Given the description of an element on the screen output the (x, y) to click on. 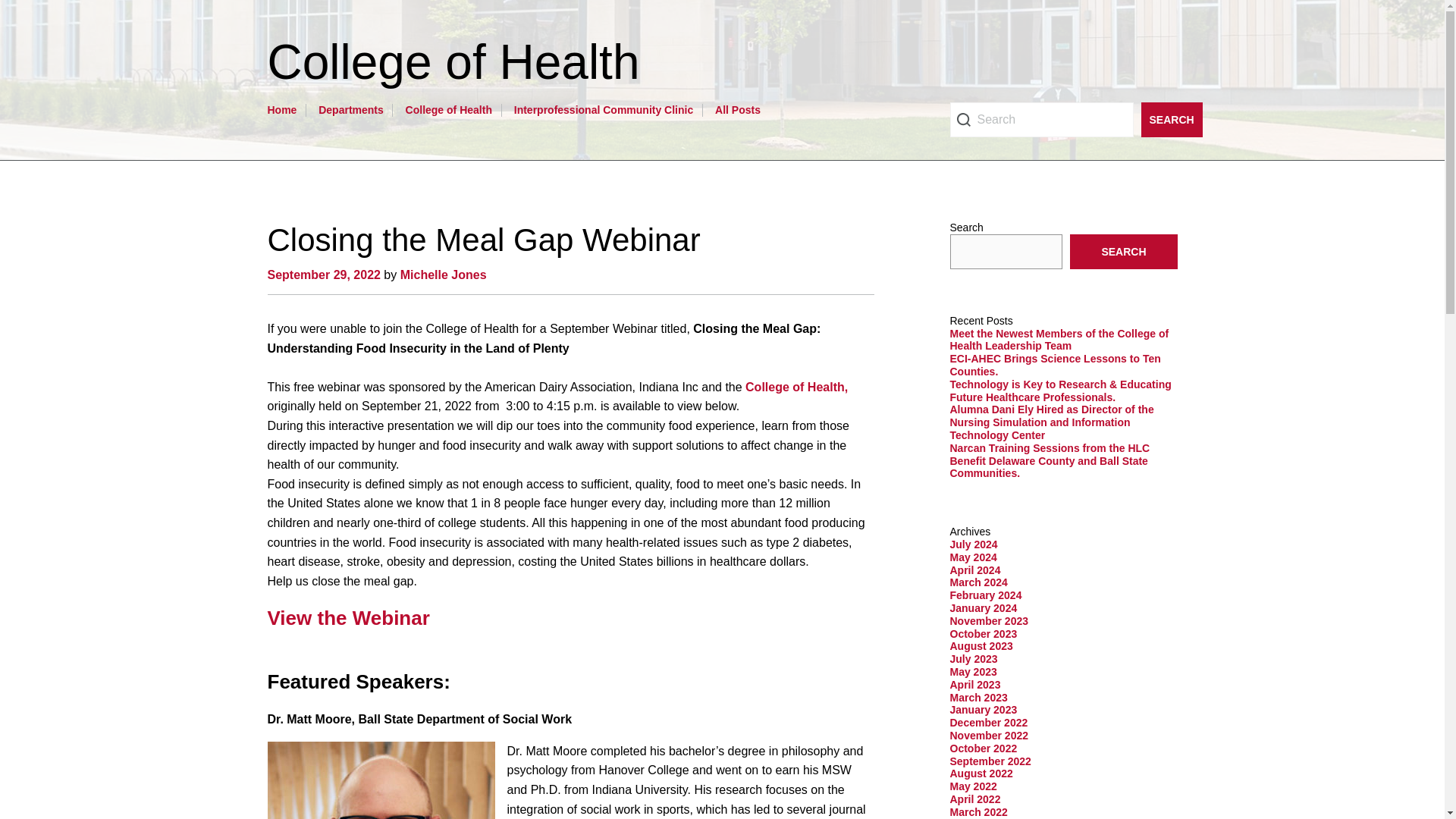
Interprofessional Community Clinic (603, 110)
View the Webinar (347, 617)
May 2024 (972, 557)
October 2023 (982, 633)
Search (1171, 119)
Michelle Jones (443, 274)
February 2024 (985, 594)
November 2023 (988, 621)
Search (1171, 119)
Search (1040, 119)
College of Health (449, 110)
April 2024 (974, 570)
College of Health (459, 61)
July 2023 (973, 658)
January 2024 (982, 607)
